Given the description of an element on the screen output the (x, y) to click on. 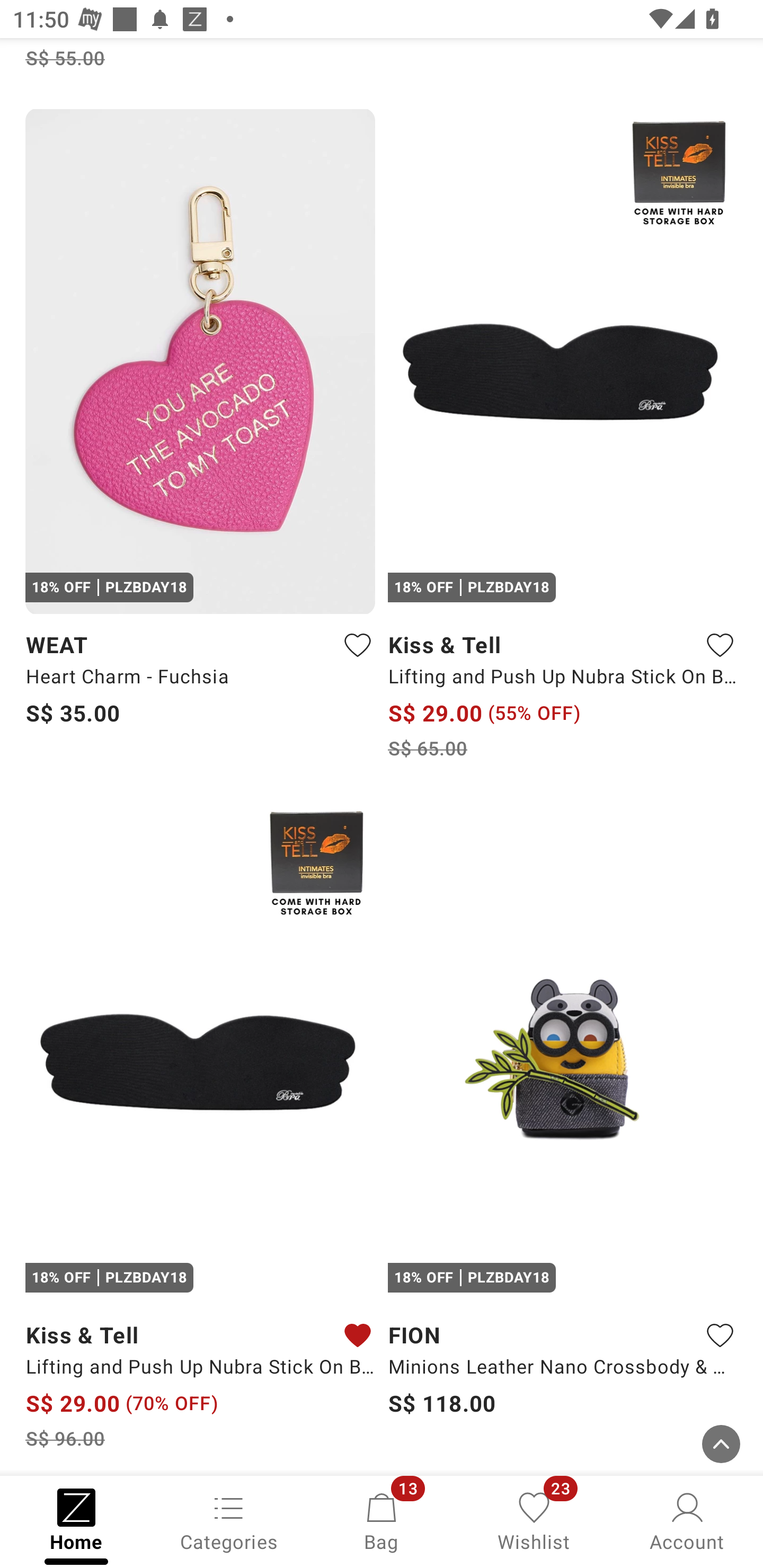
Categories (228, 1519)
Bag, 13 new notifications Bag (381, 1519)
Wishlist, 23 new notifications Wishlist (533, 1519)
Account (686, 1519)
